Given the description of an element on the screen output the (x, y) to click on. 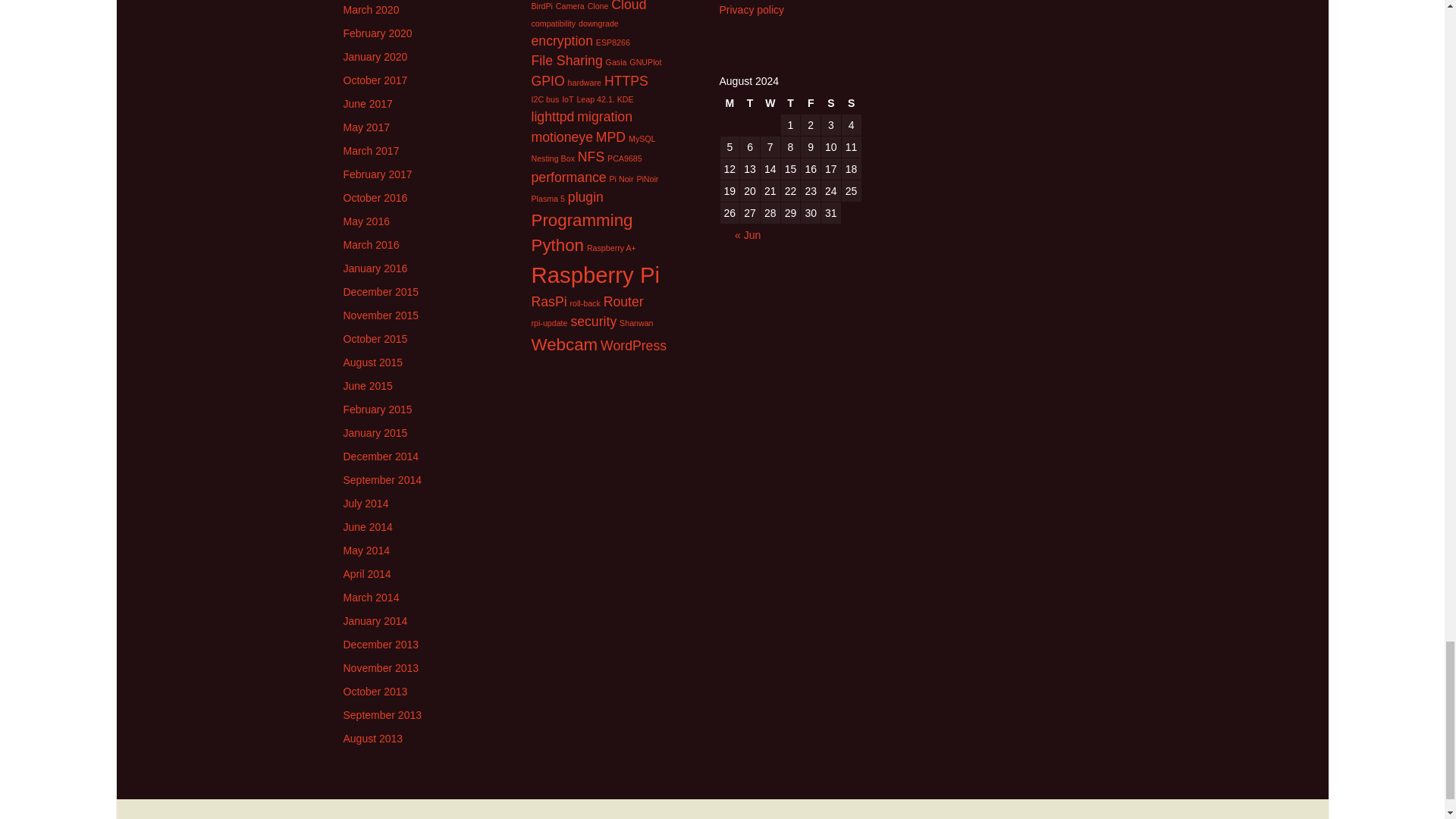
Tuesday (749, 102)
Wednesday (770, 102)
Monday (729, 102)
Thursday (790, 102)
